Given the description of an element on the screen output the (x, y) to click on. 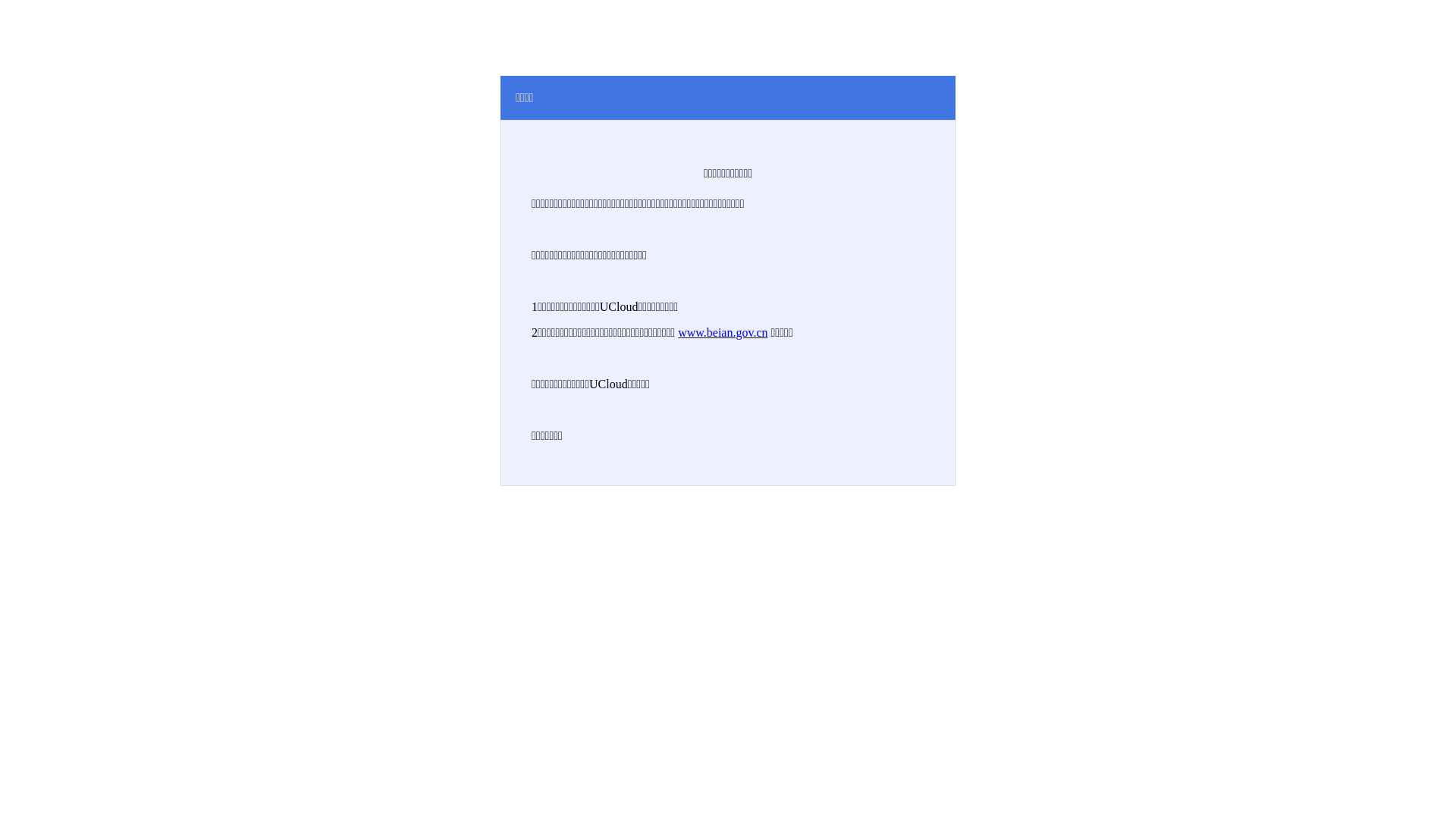
www.beian.gov.cn Element type: text (722, 332)
